Given the description of an element on the screen output the (x, y) to click on. 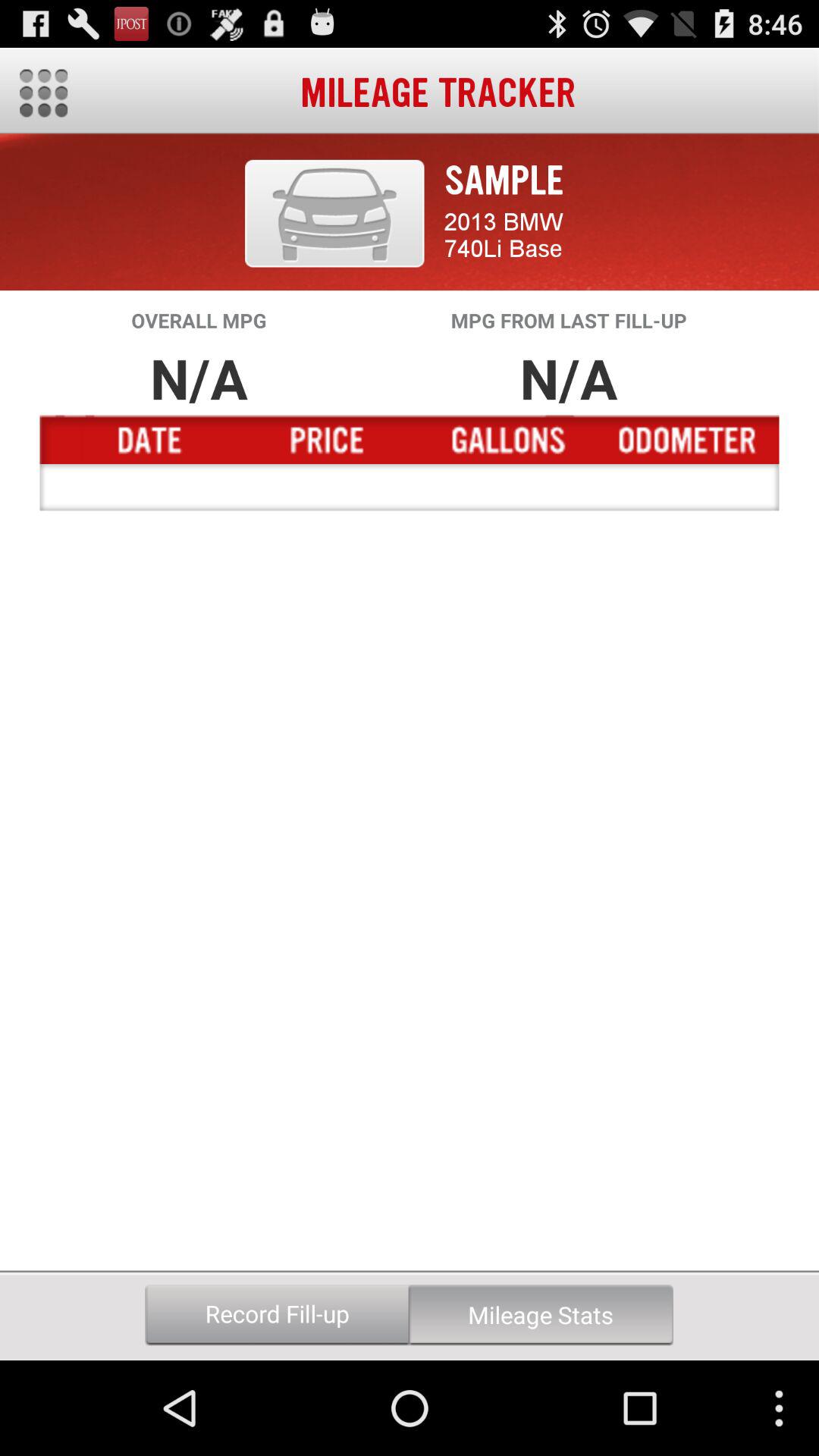
menu grid (43, 93)
